Given the description of an element on the screen output the (x, y) to click on. 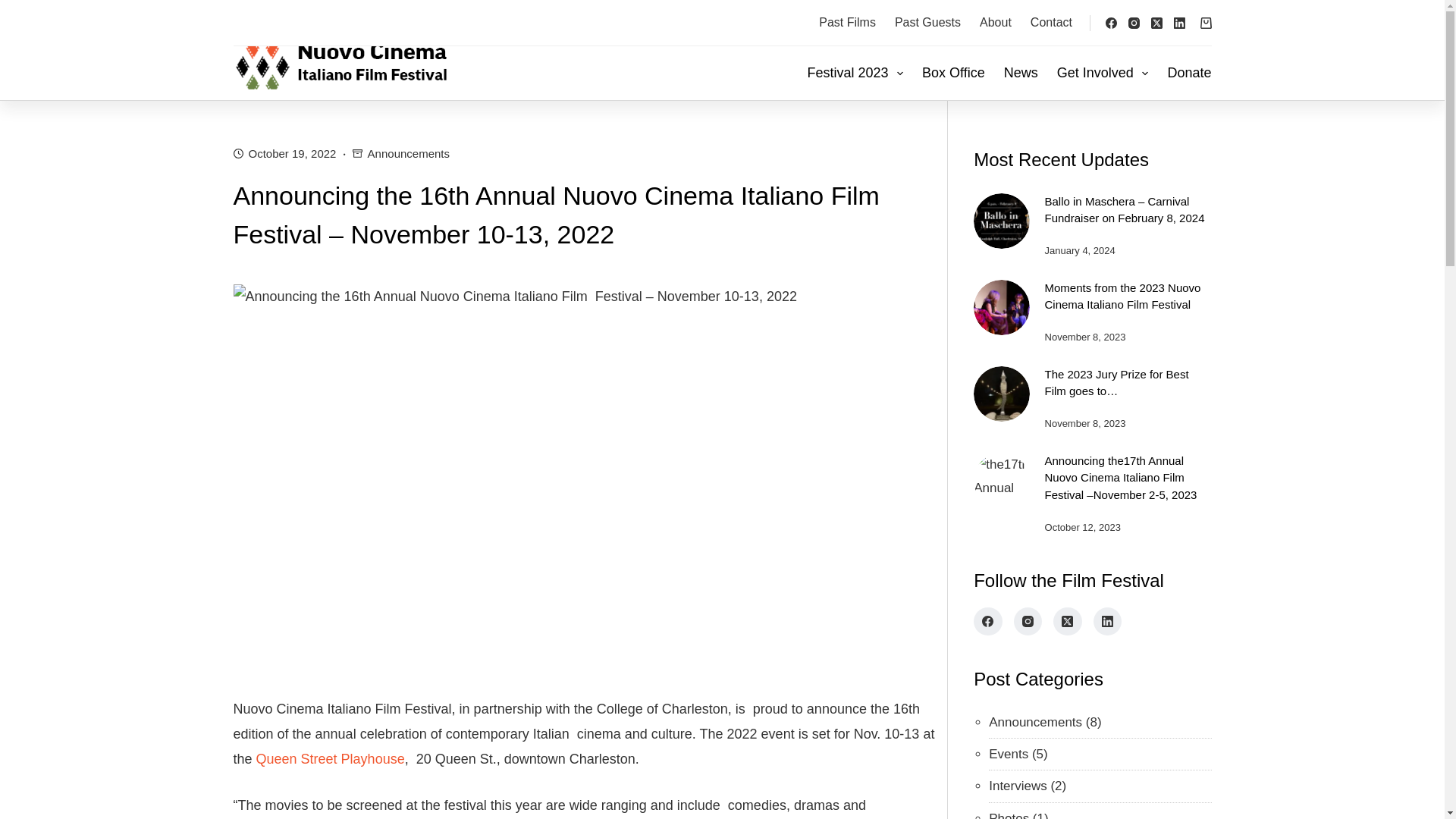
Festival 2023 (854, 72)
Past Films (847, 22)
Skip to content (15, 7)
About (996, 22)
Past Guests (927, 22)
Shopping cart (1205, 21)
Contact (1050, 22)
